Given the description of an element on the screen output the (x, y) to click on. 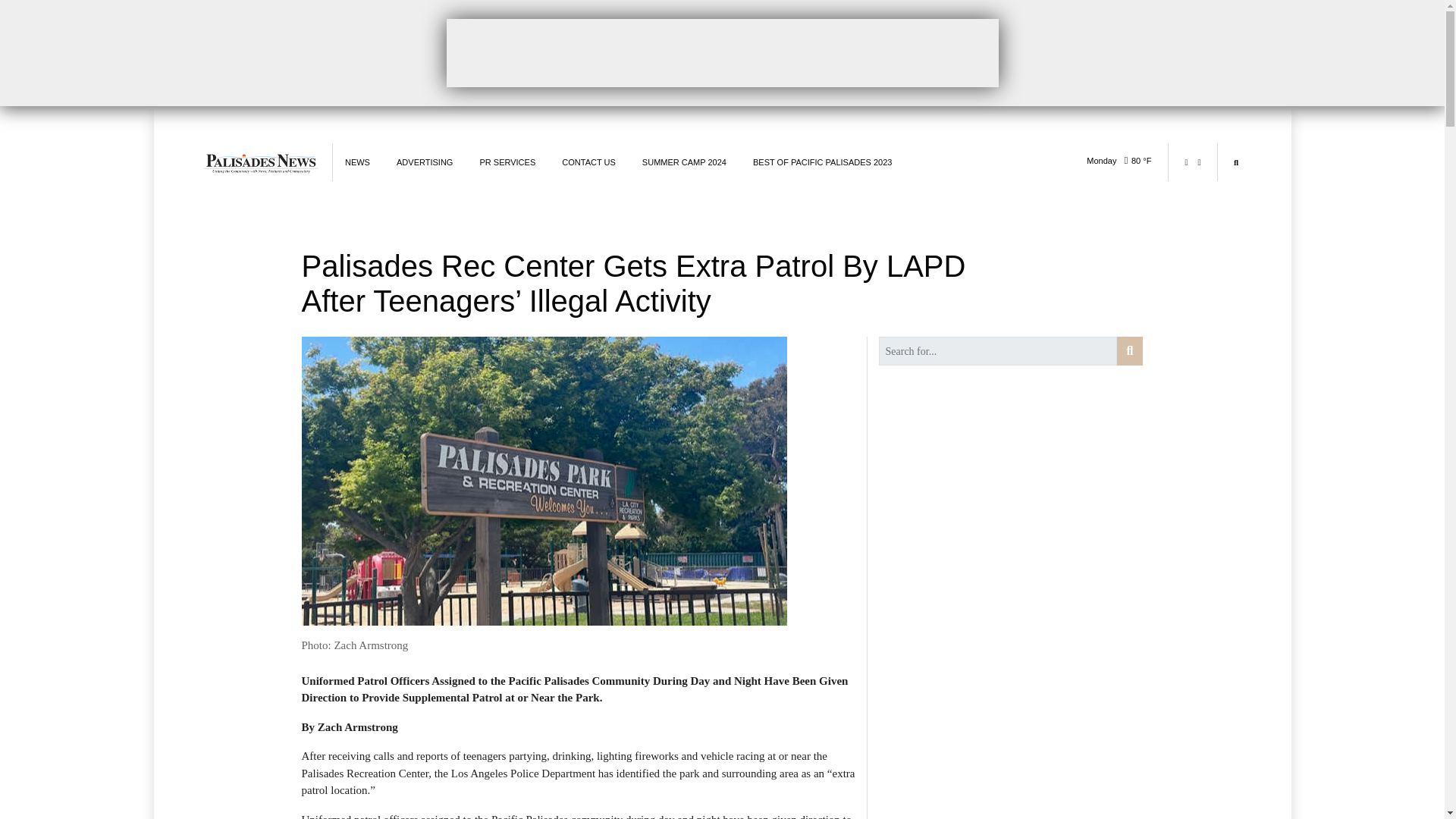
ADVERTISING (424, 161)
CONTACT US (588, 161)
3rd party ad content (721, 52)
SUMMER CAMP 2024 (684, 161)
PR SERVICES (507, 161)
BEST OF PACIFIC PALISADES 2023 (821, 161)
